Given the description of an element on the screen output the (x, y) to click on. 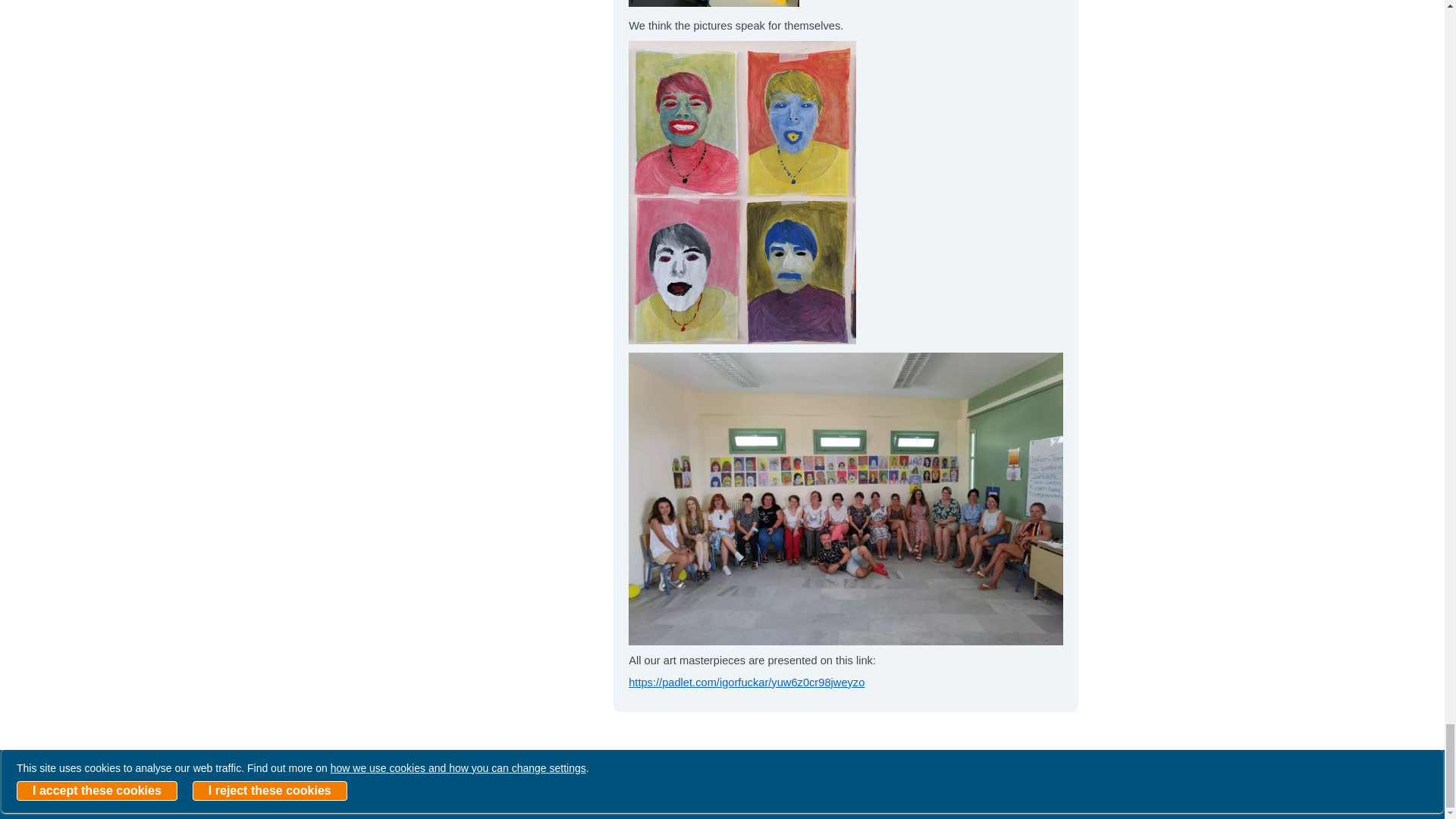
Contact (611, 786)
Brexit content disclaimer (509, 786)
Disclaimer (401, 786)
Support (669, 786)
Code of conduct (841, 786)
About this site (744, 786)
